Given the description of an element on the screen output the (x, y) to click on. 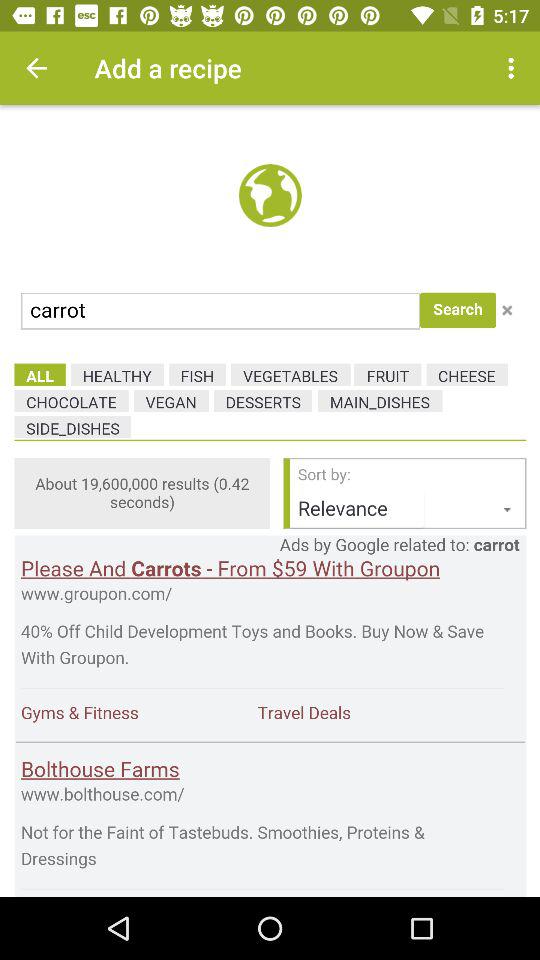
homepage (270, 501)
